Given the description of an element on the screen output the (x, y) to click on. 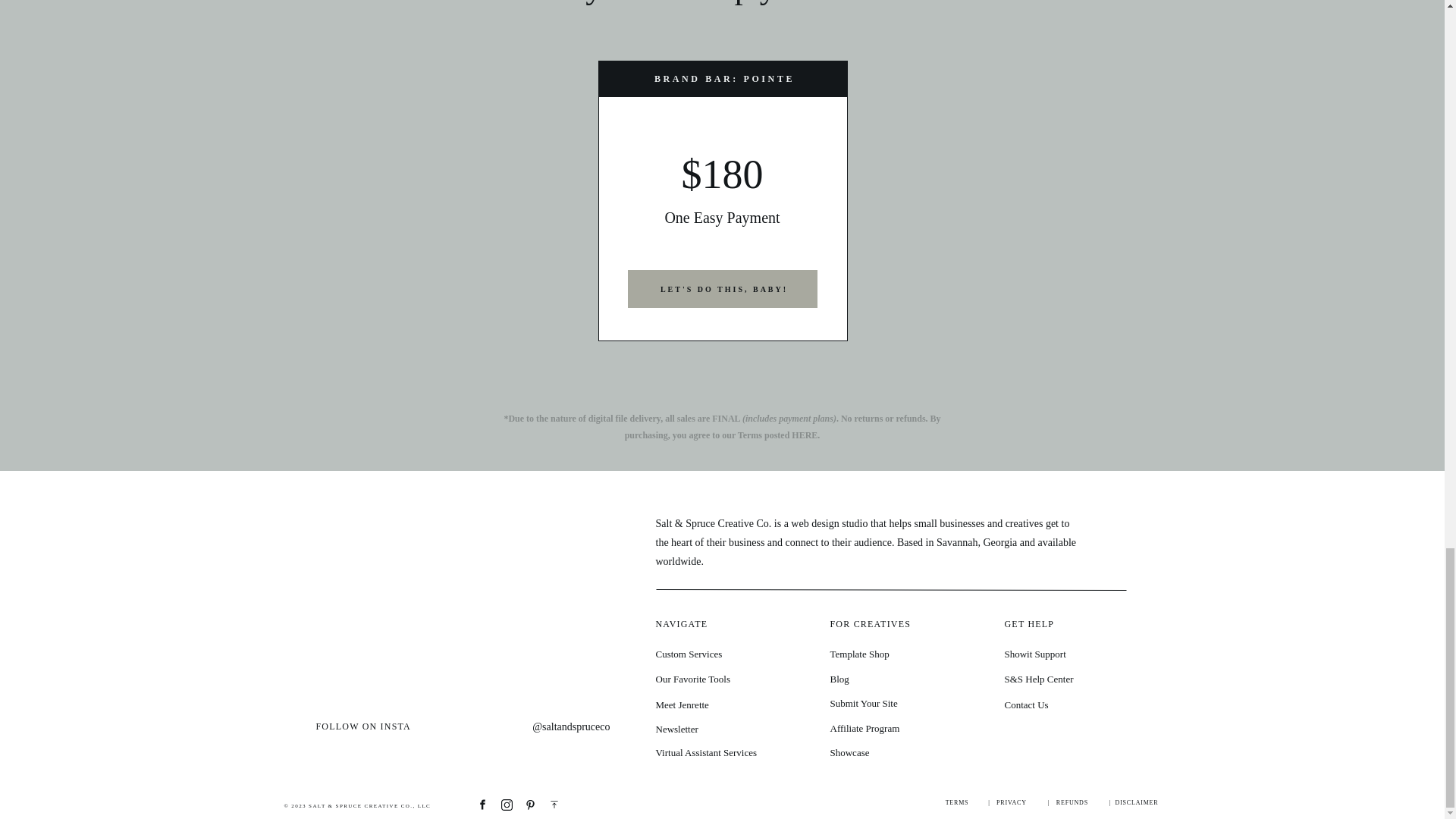
Newsletter (715, 728)
Submit Your Site (889, 702)
Showit Support (1064, 653)
Template Shop (889, 653)
Contact Us (1064, 704)
Affiliate Program (889, 727)
Our Favorite Tools (715, 678)
TERMS (956, 804)
Showcase (889, 751)
Custom Services (715, 653)
Meet Jenrette (715, 704)
Virtual Assistant Services (715, 751)
Blog (889, 678)
LET'S DO THIS, BABY! (724, 289)
